Given the description of an element on the screen output the (x, y) to click on. 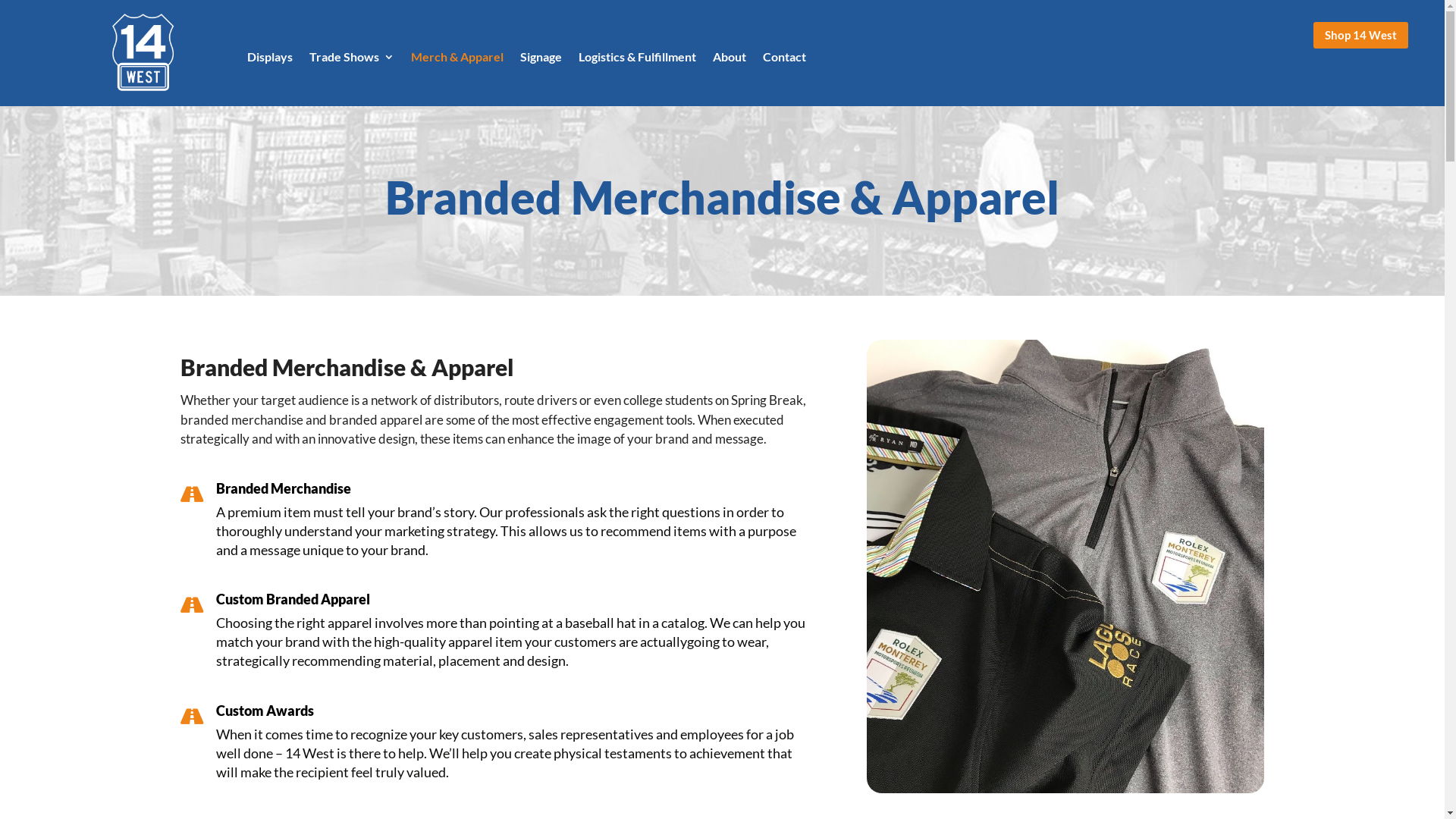
Signage Element type: text (540, 59)
Trade Shows Element type: text (351, 59)
Logistics & Fulfillment Element type: text (637, 59)
About Element type: text (729, 59)
Merch & Apparel Element type: text (457, 59)
Shop 14 West Element type: text (1360, 34)
Contact Element type: text (784, 59)
Displays Element type: text (269, 59)
14west-logo-transparent Element type: hover (142, 52)
